Given the description of an element on the screen output the (x, y) to click on. 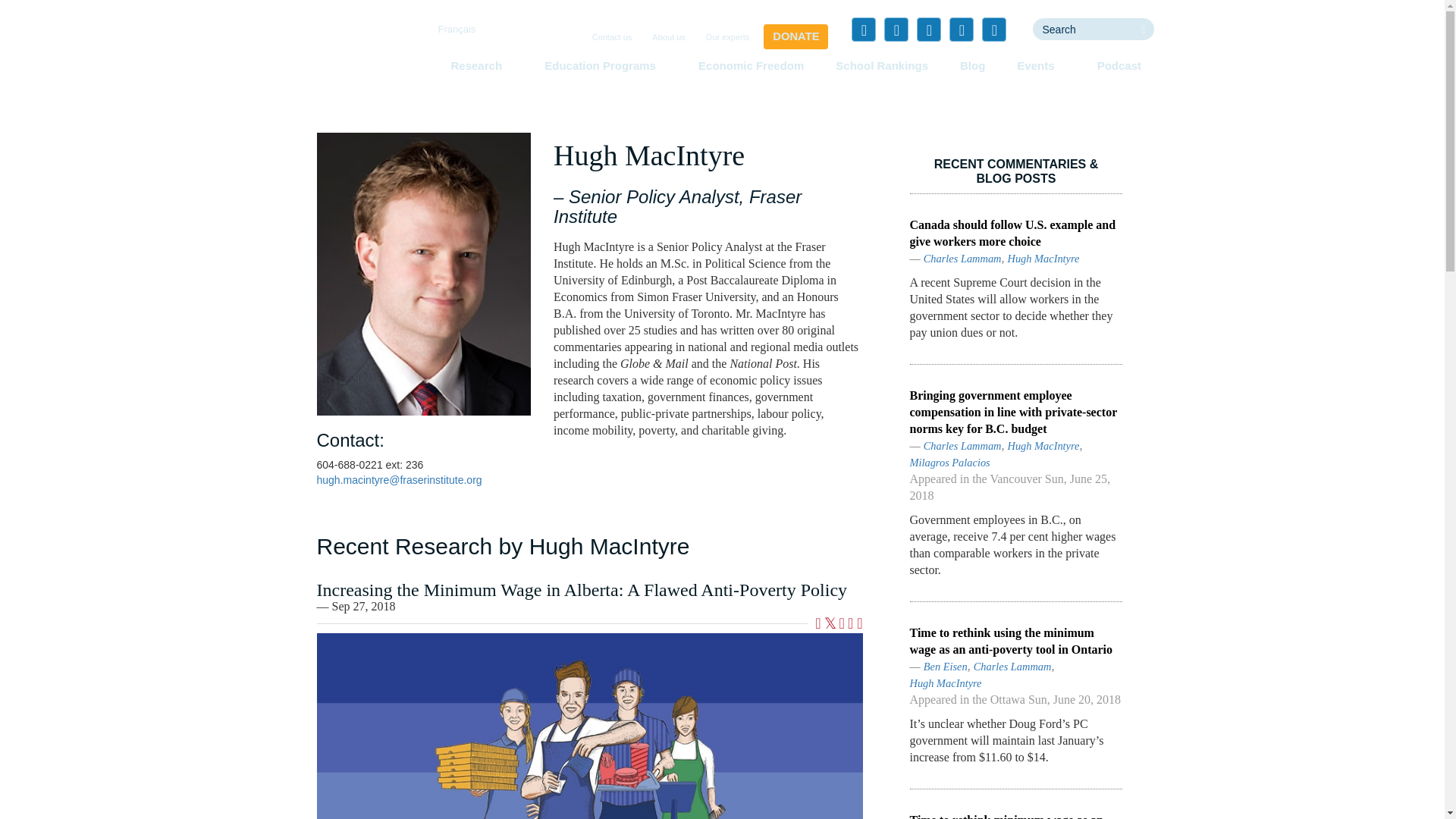
Research (481, 65)
Enter the terms you wish to search for. (1082, 29)
Display a printer-friendly version of this page. (859, 624)
About us (668, 37)
Home (352, 56)
LinkedIn (928, 29)
Facebook (863, 29)
Our experts (727, 37)
DONATE (795, 36)
School Rankings (882, 65)
Instagram (993, 29)
Contact us (612, 37)
